Given the description of an element on the screen output the (x, y) to click on. 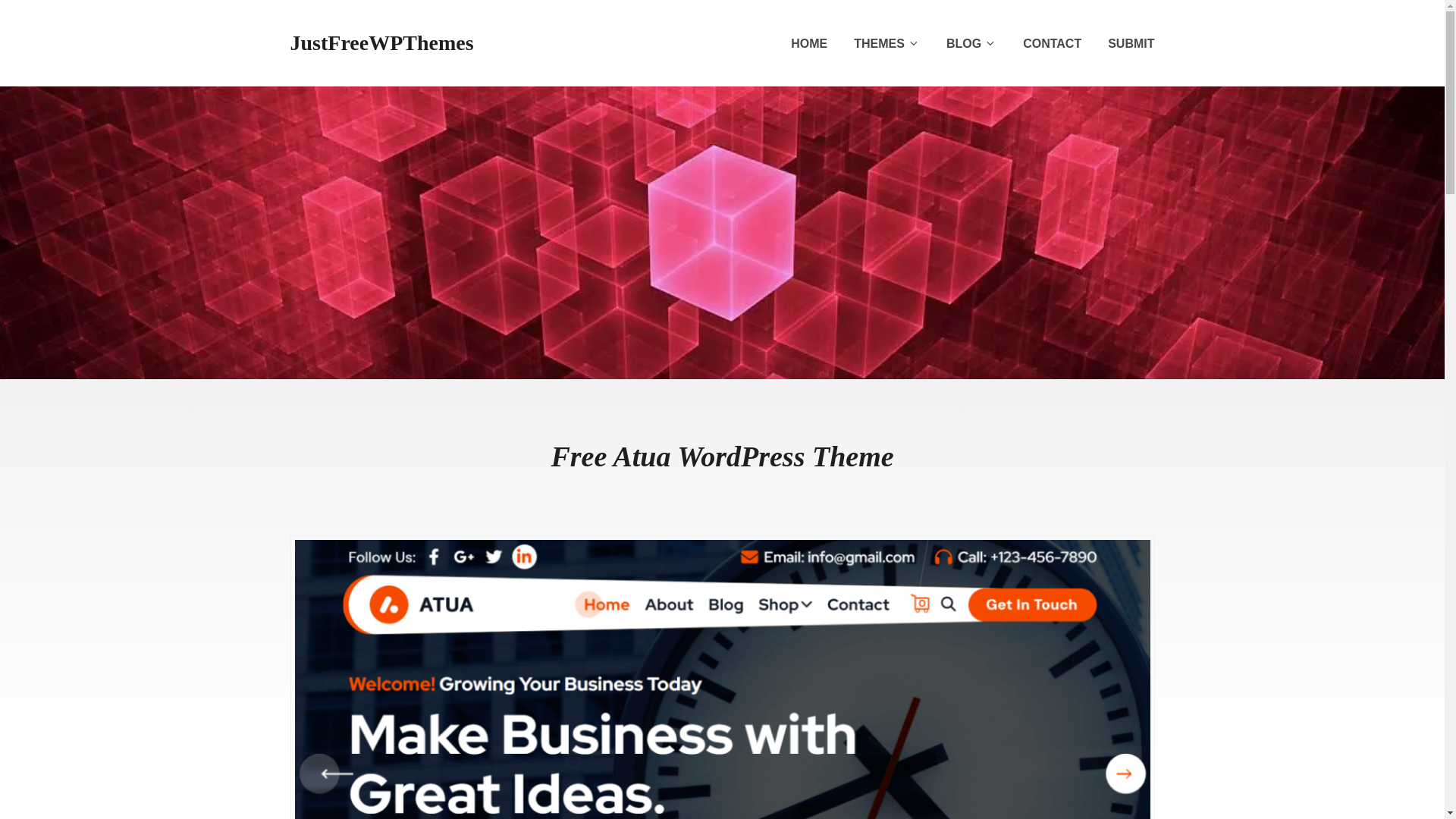
THEMES (886, 44)
CONTACT (1052, 44)
HOME (808, 44)
JustFreeWPThemes (381, 42)
BLOG (970, 44)
SUBMIT (1131, 44)
